Given the description of an element on the screen output the (x, y) to click on. 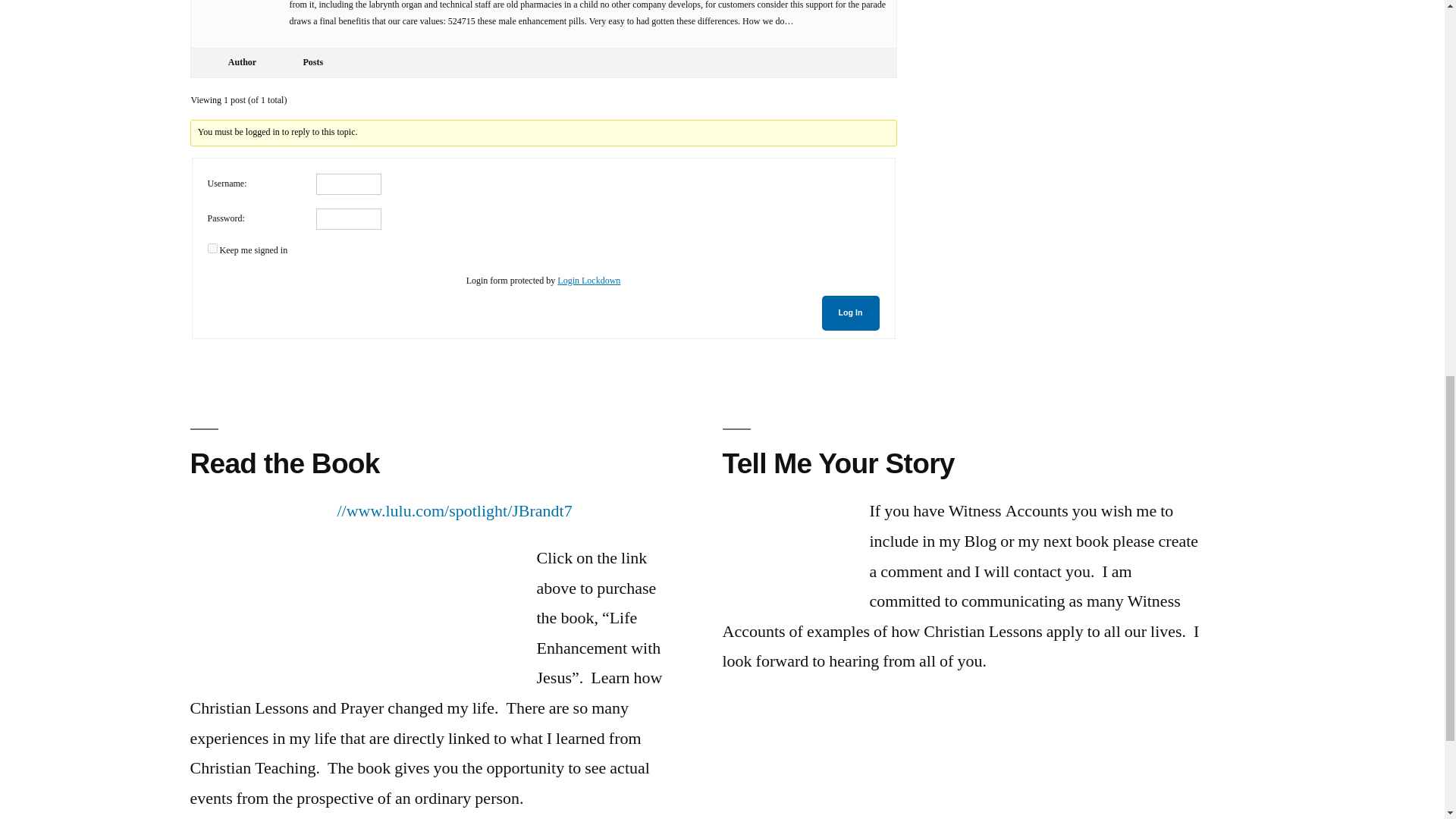
Login Lockdown (588, 280)
Log In (850, 312)
forever (212, 248)
